Given the description of an element on the screen output the (x, y) to click on. 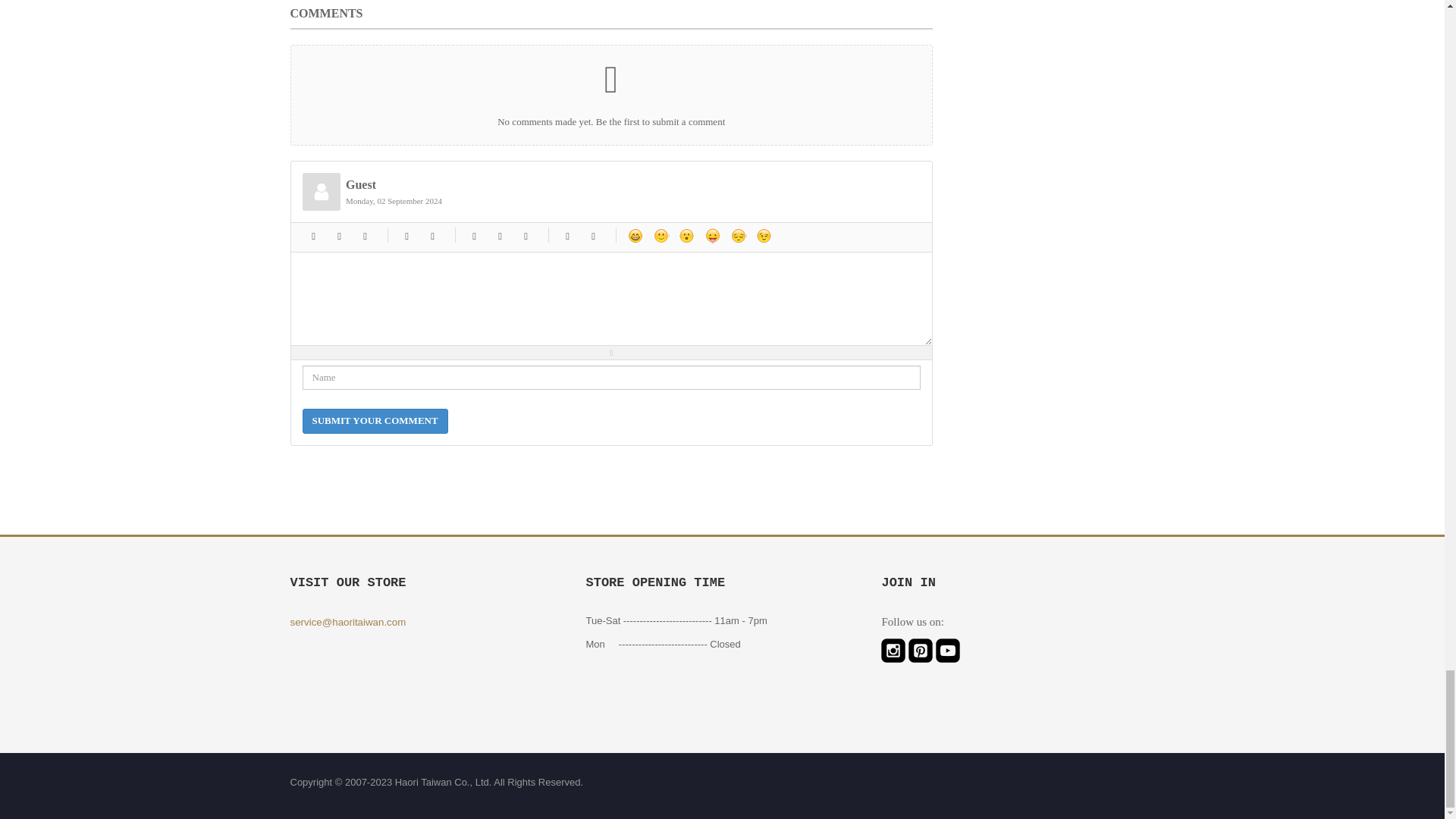
Numeric list (500, 235)
Clean (593, 235)
Unhappy (737, 235)
Happy (634, 235)
Surprised (686, 235)
Bulleted list (473, 235)
Smile (660, 235)
Quotes (567, 235)
Tongue (711, 235)
List item (525, 235)
